Given the description of an element on the screen output the (x, y) to click on. 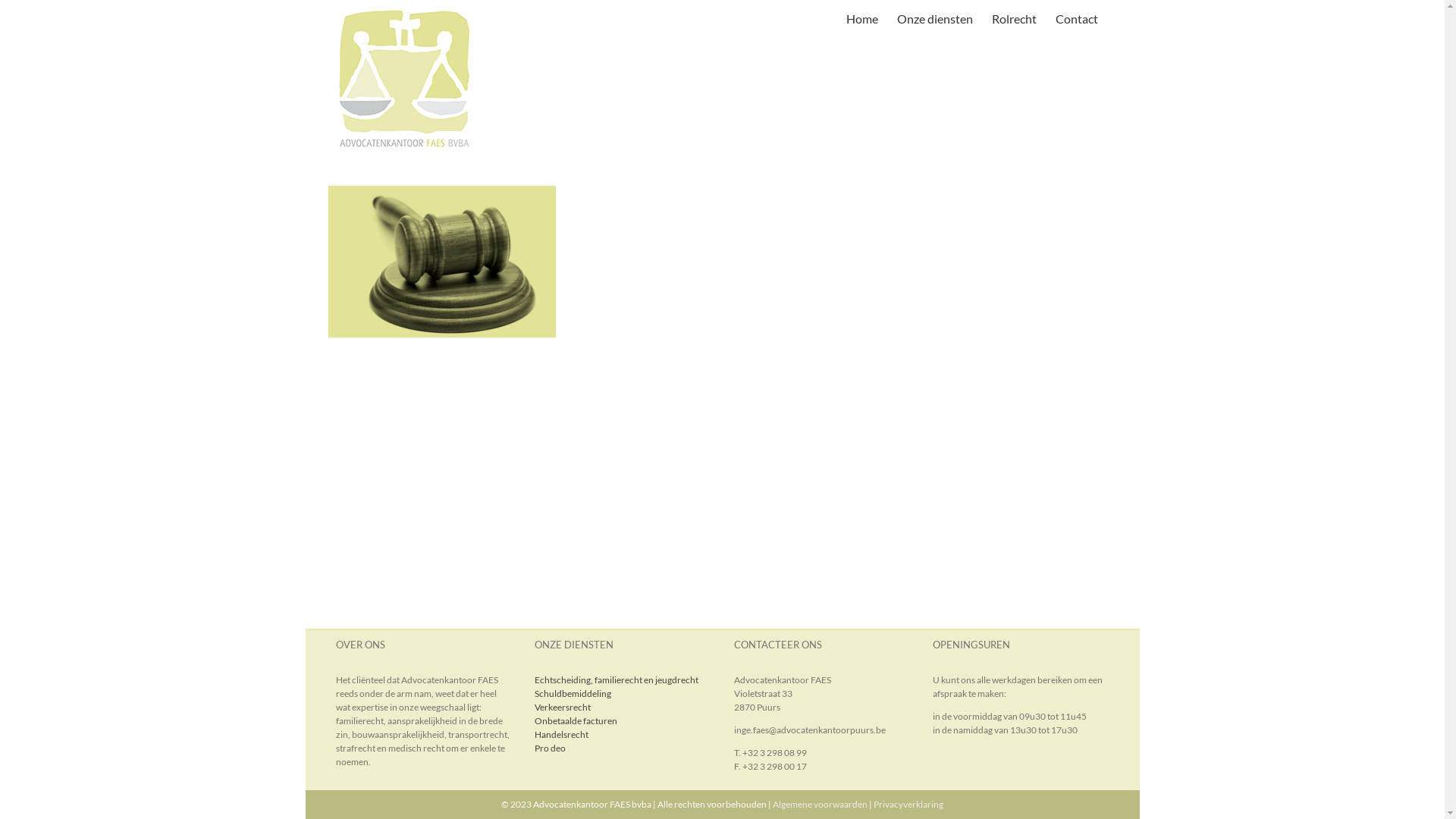
Verkeersrecht Element type: text (562, 706)
Schuldbemiddeling Element type: text (572, 693)
Onbetaalde facturen Element type: text (575, 720)
Echtscheiding, familierecht en jeugdrecht Element type: text (616, 679)
Onze diensten Element type: text (934, 18)
Privacyverklaring Element type: text (908, 803)
Home Element type: text (862, 18)
Handelsrecht Element type: text (561, 734)
Pro deo Element type: text (549, 747)
Contact Element type: text (1076, 18)
Algemene voorwaarden Element type: text (819, 803)
Rolrecht Element type: text (1013, 18)
